Given the description of an element on the screen output the (x, y) to click on. 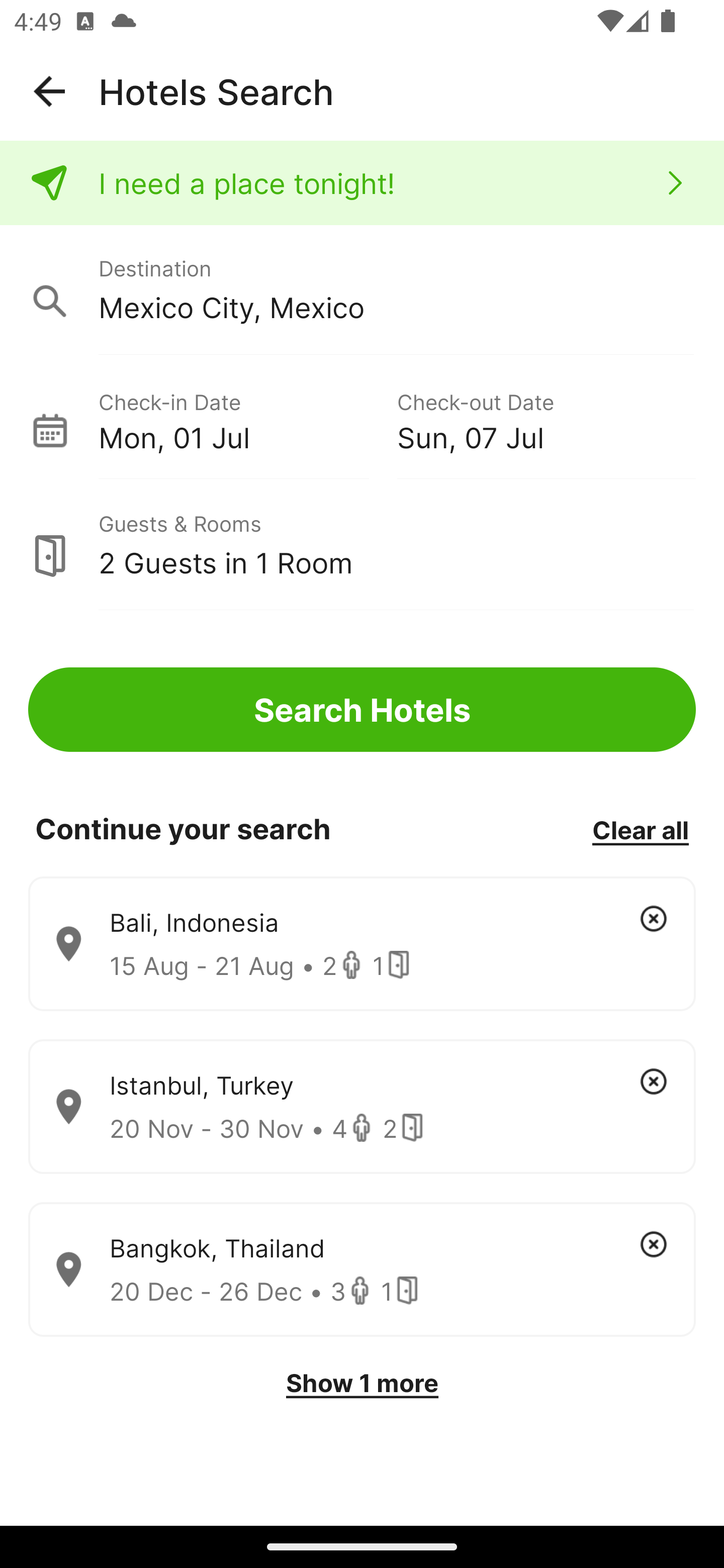
I need a place tonight! (362, 183)
Destination Mexico City, Mexico (362, 290)
Check-in Date Mon, 01 Jul (247, 418)
Check-out Date Sun, 07 Jul (546, 418)
Guests & Rooms 2 Guests in 1 Room (362, 545)
Search Hotels (361, 709)
Clear all (640, 829)
Bali, Indonesia 15 Aug - 21 Aug • 2  1  (361, 943)
Istanbul, Turkey 20 Nov - 30 Nov • 4  2  (361, 1106)
Bangkok, Thailand 20 Dec - 26 Dec • 3  1  (361, 1269)
Show 1 more (362, 1382)
